Given the description of an element on the screen output the (x, y) to click on. 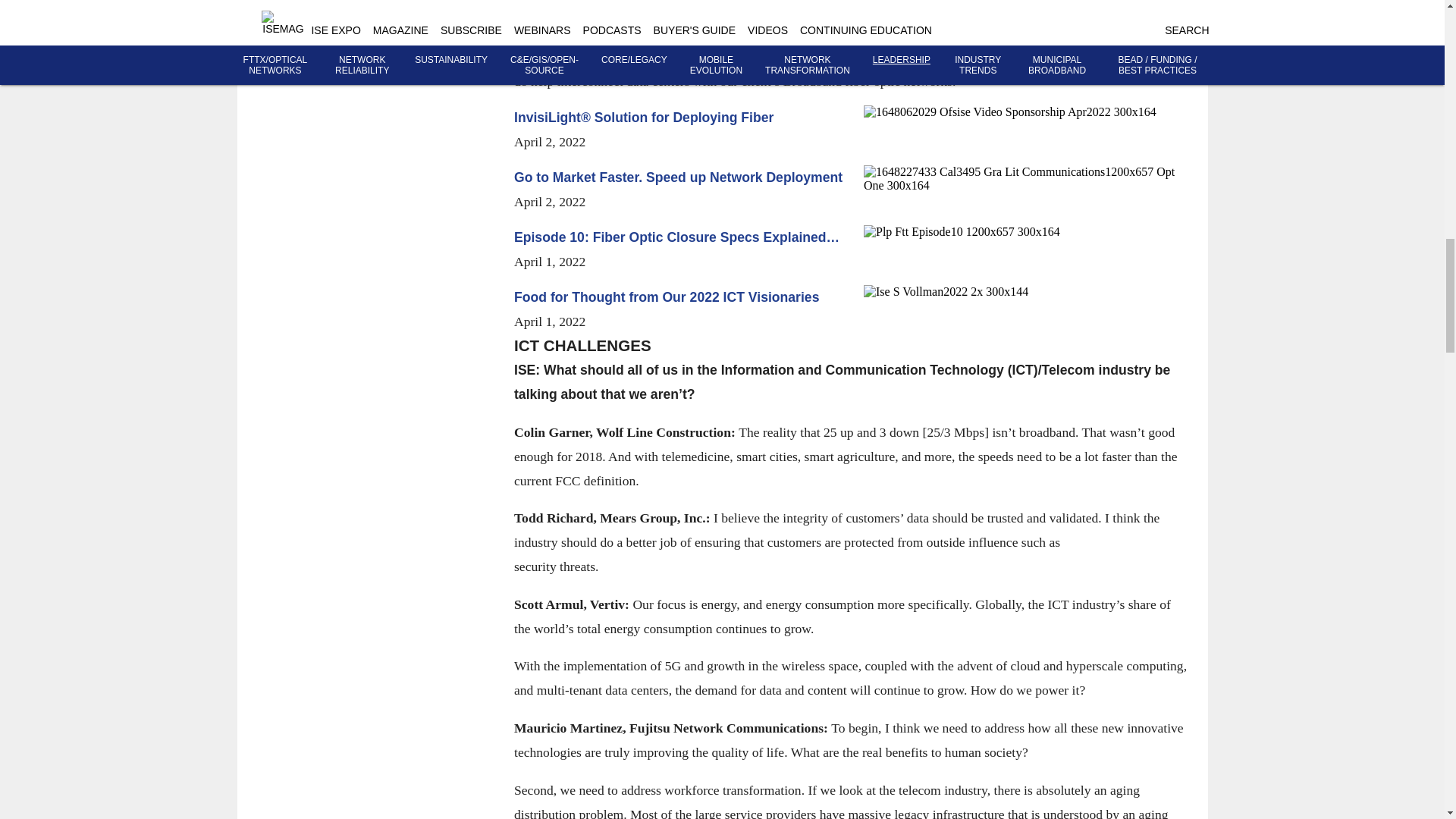
Plp Ftt Episode10 1200x657 300x164 (1025, 232)
1648062029 Ofsise Video Sponsorship Apr2022 300x164 (1025, 111)
Ise S Vollman2022 2x 300x144 (1025, 291)
